Given the description of an element on the screen output the (x, y) to click on. 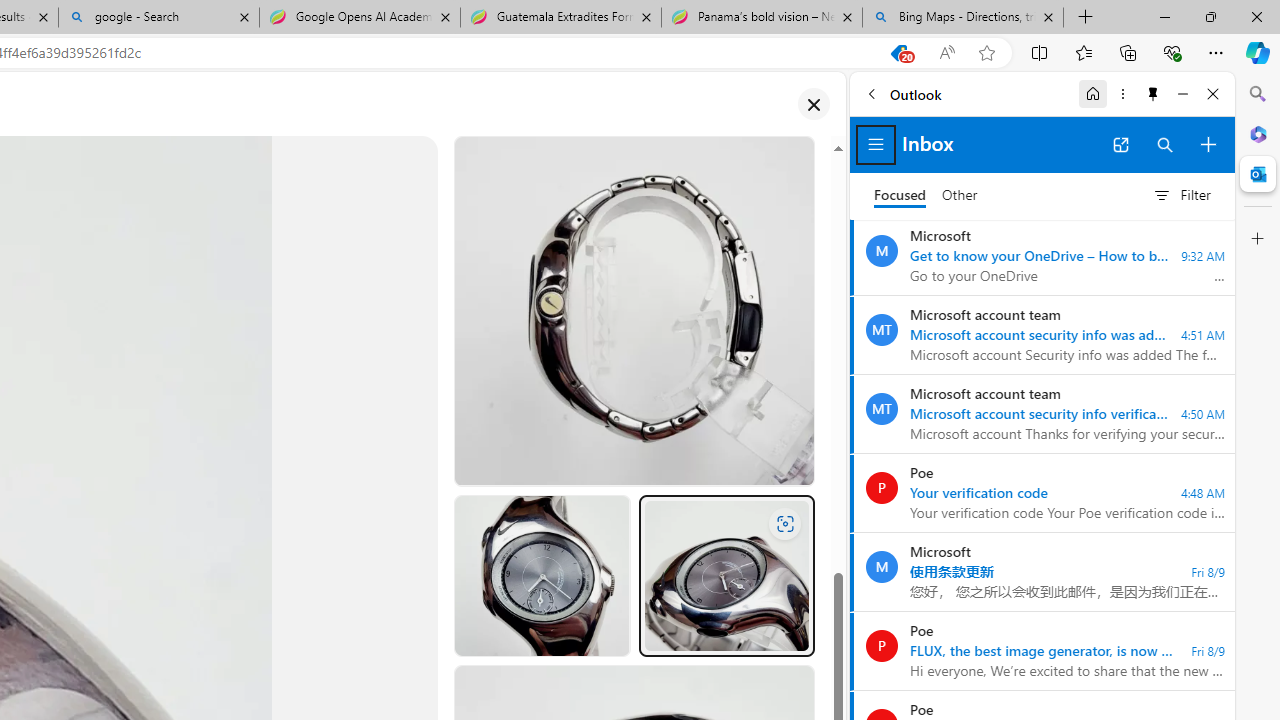
Google Opens AI Academy for Startups - Nearshore Americas (359, 17)
google - Search (158, 17)
Minimize (1182, 93)
Add this page to favorites (Ctrl+D) (986, 53)
You have the best price! Shopping in Microsoft Edge, 20 (898, 53)
New Tab (1085, 17)
Read aloud this page (Ctrl+Shift+U) (946, 53)
Close image gallery dialog (813, 103)
Close Outlook pane (1258, 174)
Collections (1128, 52)
Split screen (1039, 52)
Focused (900, 195)
Settings and more (Alt+F) (1215, 52)
